Given the description of an element on the screen output the (x, y) to click on. 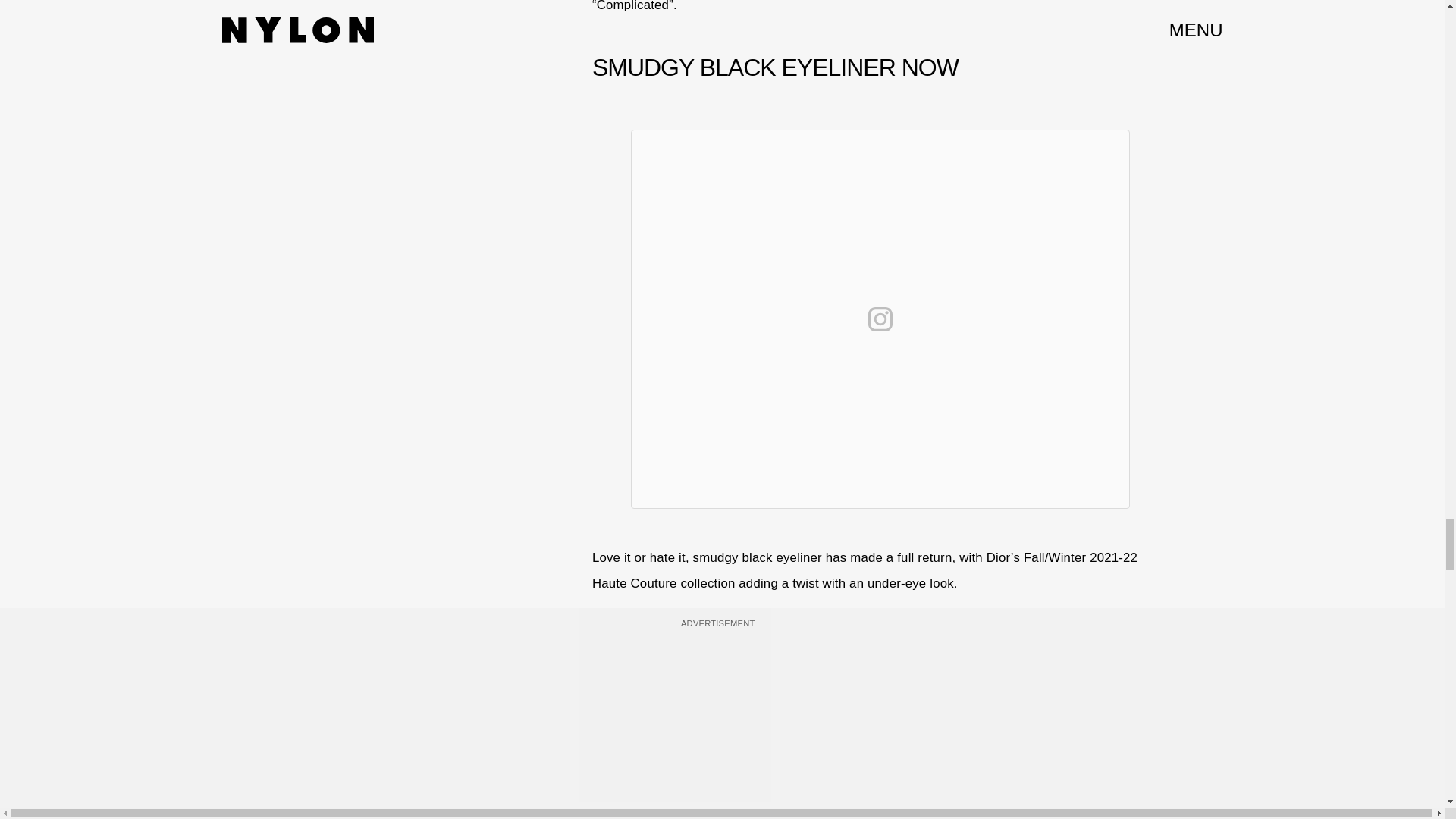
View on Instagram (879, 319)
adding a twist with an under-eye look (845, 583)
